Given the description of an element on the screen output the (x, y) to click on. 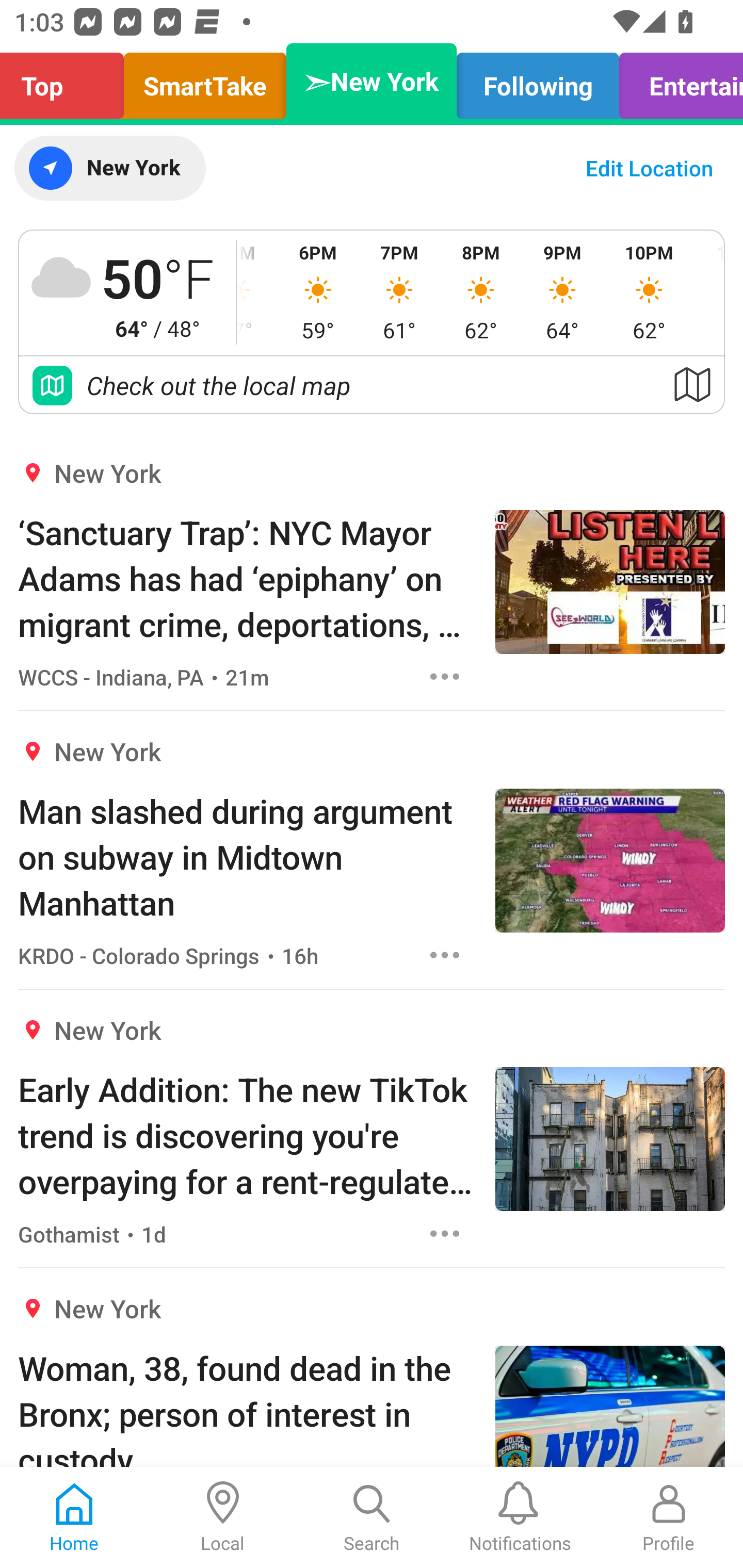
Top (67, 81)
SmartTake (204, 81)
➣New York (371, 81)
Following (537, 81)
New York (109, 168)
Edit Location (648, 168)
6PM 59° (317, 291)
7PM 61° (398, 291)
8PM 62° (480, 291)
9PM 64° (562, 291)
10PM 62° (648, 291)
Check out the local map (371, 384)
Options (444, 676)
Options (444, 954)
Options (444, 1233)
Local (222, 1517)
Search (371, 1517)
Notifications (519, 1517)
Profile (668, 1517)
